Given the description of an element on the screen output the (x, y) to click on. 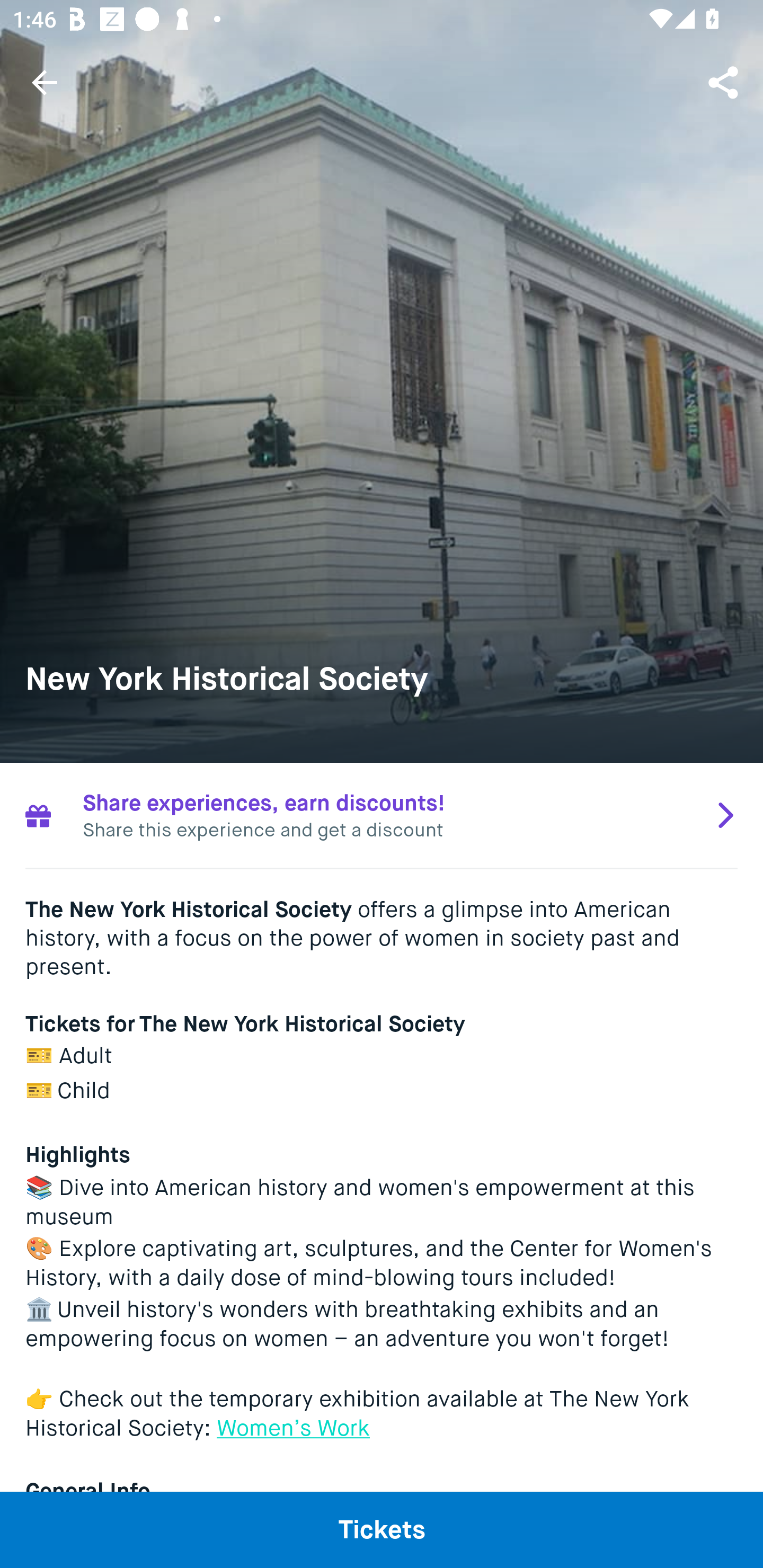
Navigate up (44, 82)
Share (724, 81)
Tickets (381, 1529)
